Given the description of an element on the screen output the (x, y) to click on. 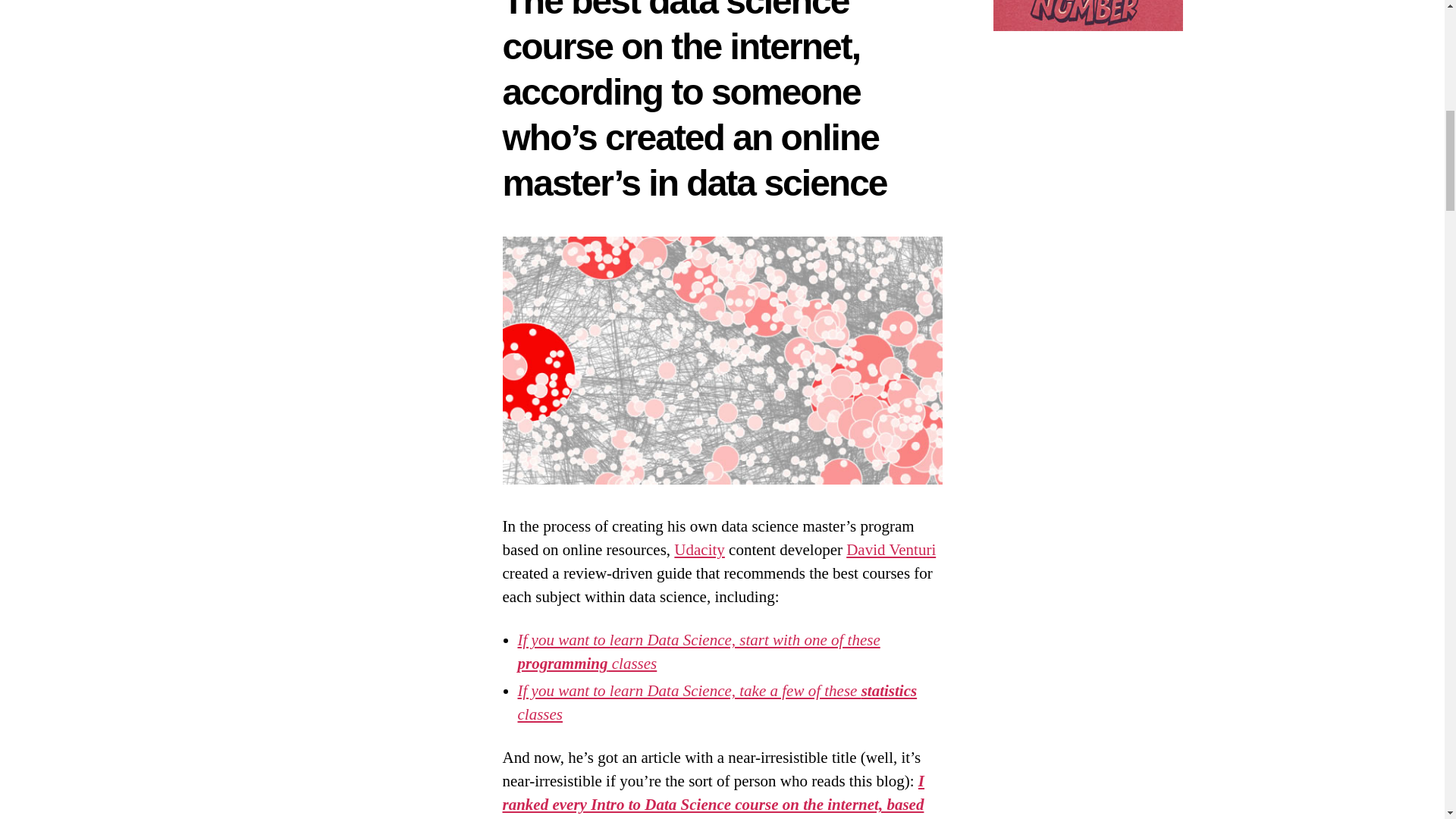
statistics (889, 690)
If you want to learn Data Science, take a few of these (688, 690)
David Venturi (890, 549)
Udacity (698, 549)
classes (539, 714)
